Given the description of an element on the screen output the (x, y) to click on. 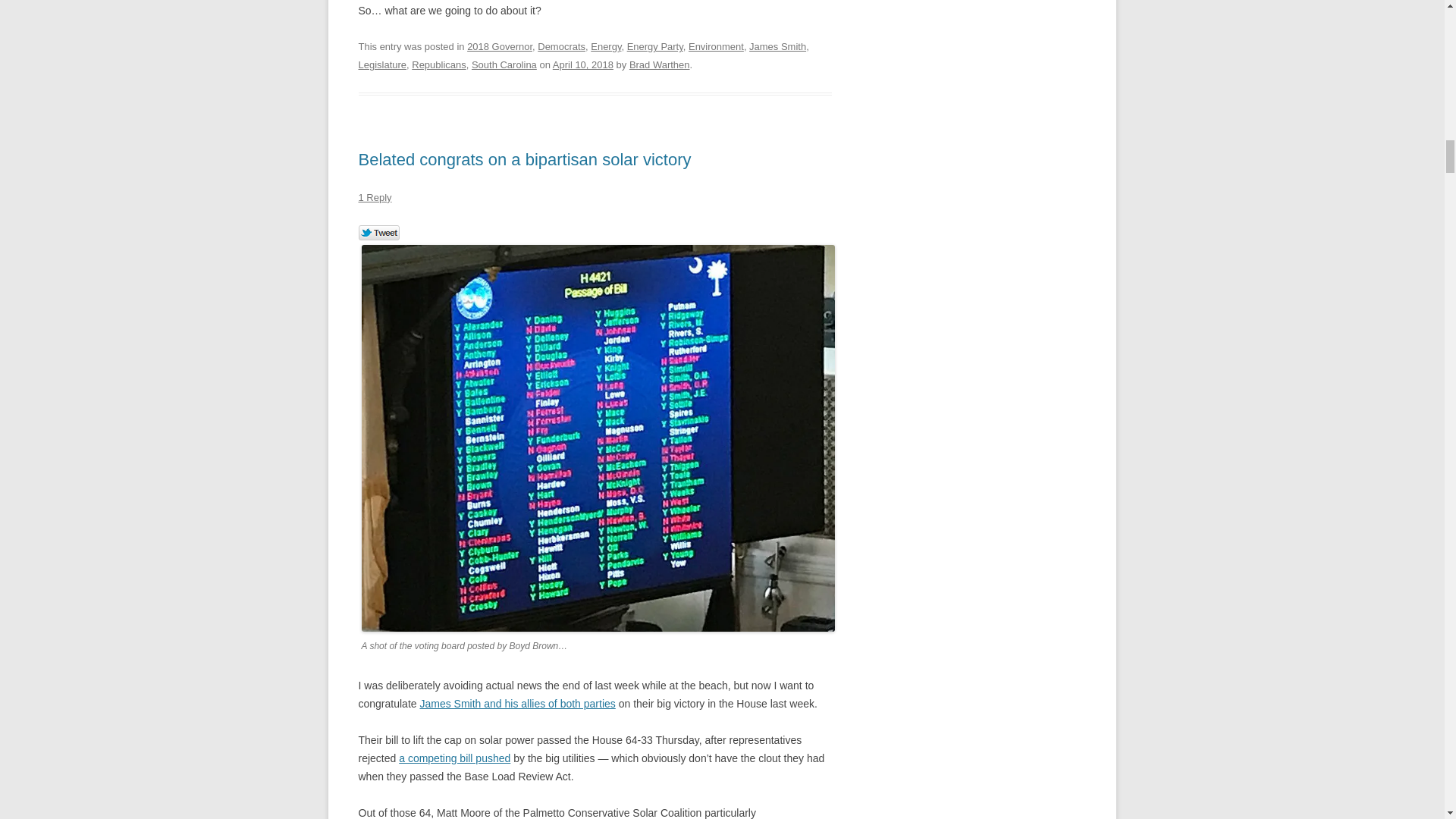
2018 Governor (499, 46)
9:20 pm (582, 64)
View all posts by Brad Warthen (659, 64)
Democrats (561, 46)
